Given the description of an element on the screen output the (x, y) to click on. 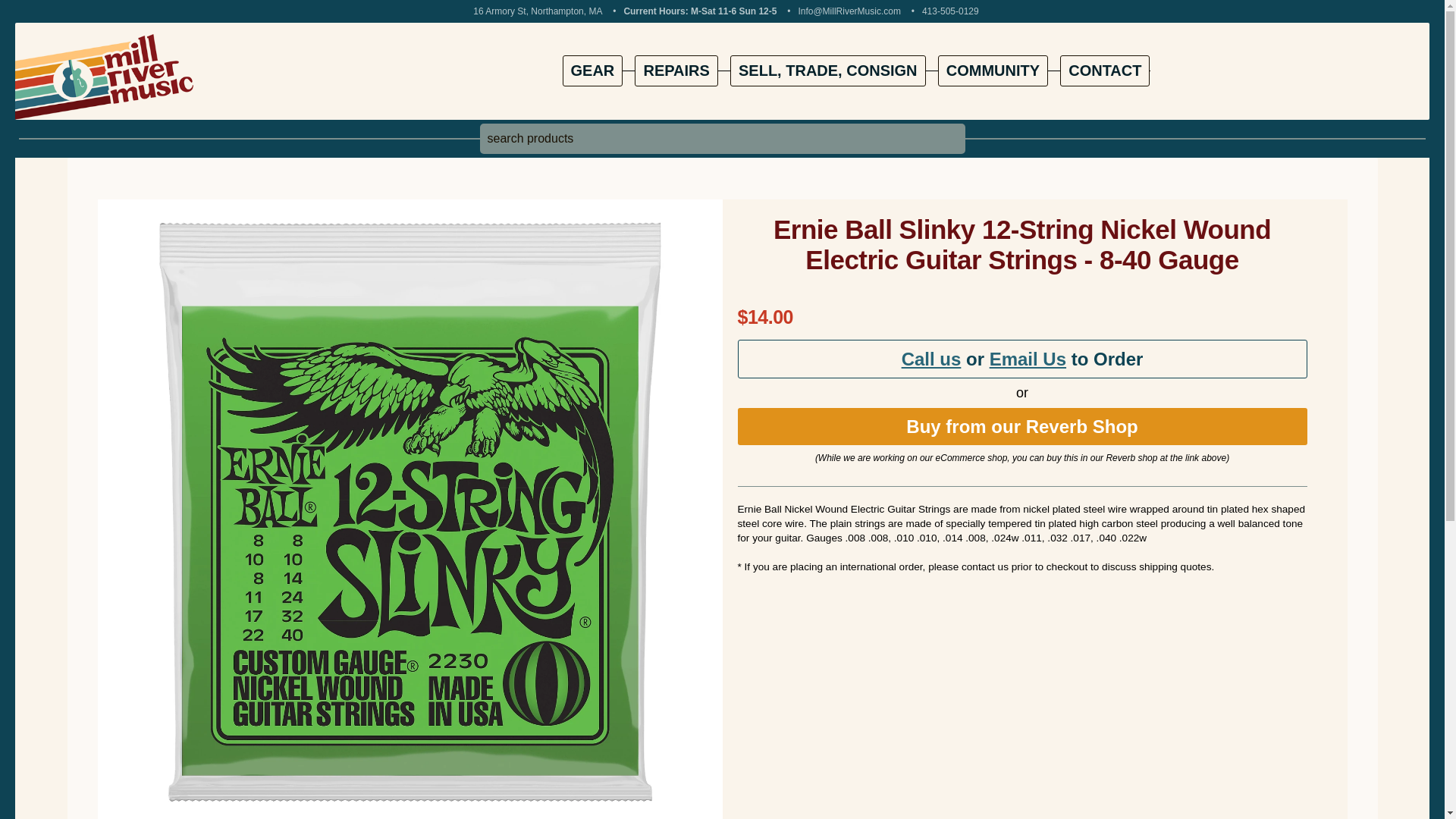
COMMUNITY (992, 70)
search products (721, 138)
Email Us (1027, 358)
GEAR (592, 70)
SELL, TRADE, CONSIGN (828, 70)
CONTACT (1104, 70)
REPAIRS (675, 70)
Call us (930, 358)
